Given the description of an element on the screen output the (x, y) to click on. 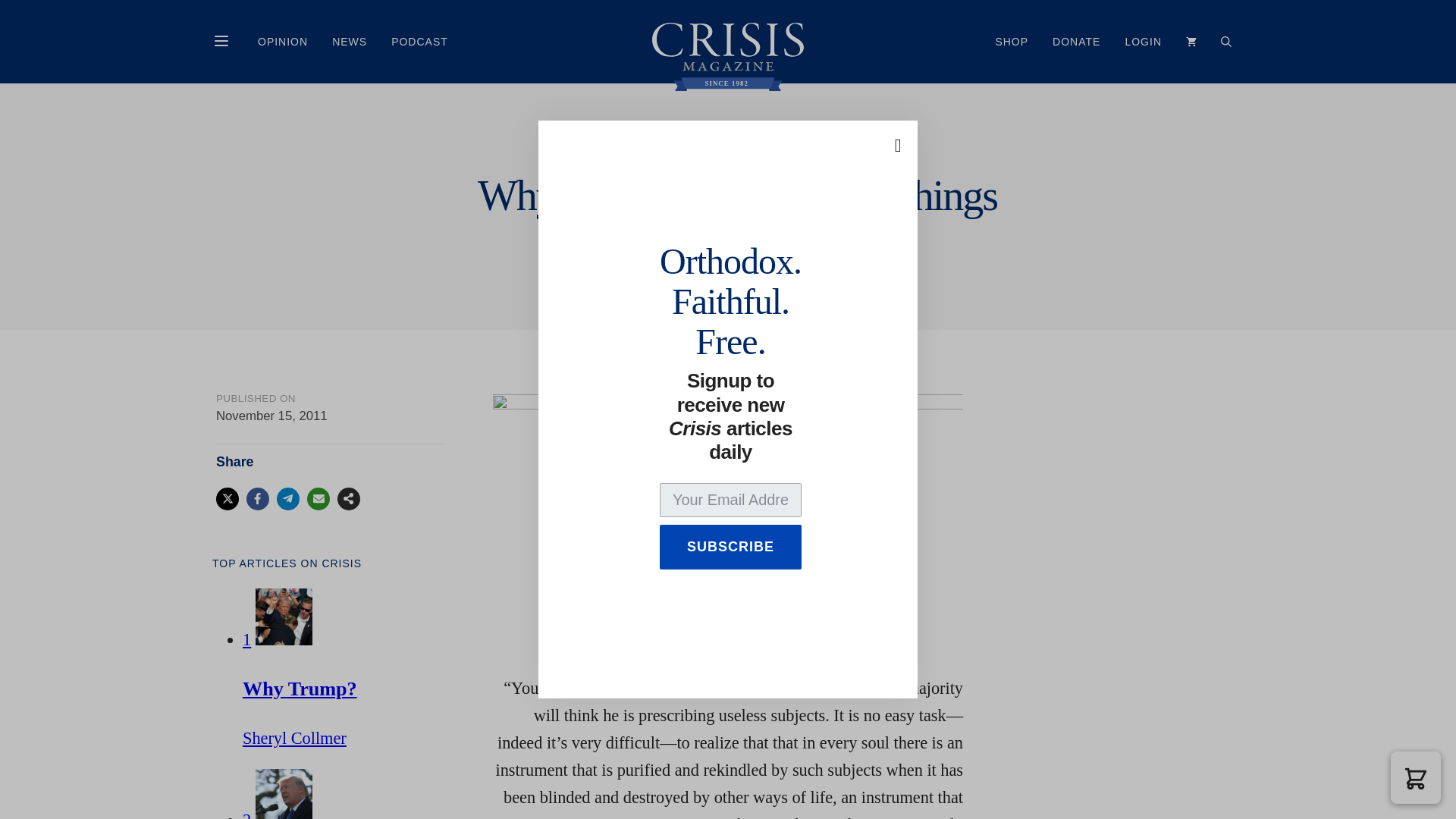
Fr. James V. Schall (719, 247)
SHOP (1011, 41)
DONATE (1076, 41)
MAIN-whywestudyuseless (727, 523)
LOGIN (1142, 41)
OPINION (283, 41)
NEWS (349, 41)
PODCAST (419, 41)
